Given the description of an element on the screen output the (x, y) to click on. 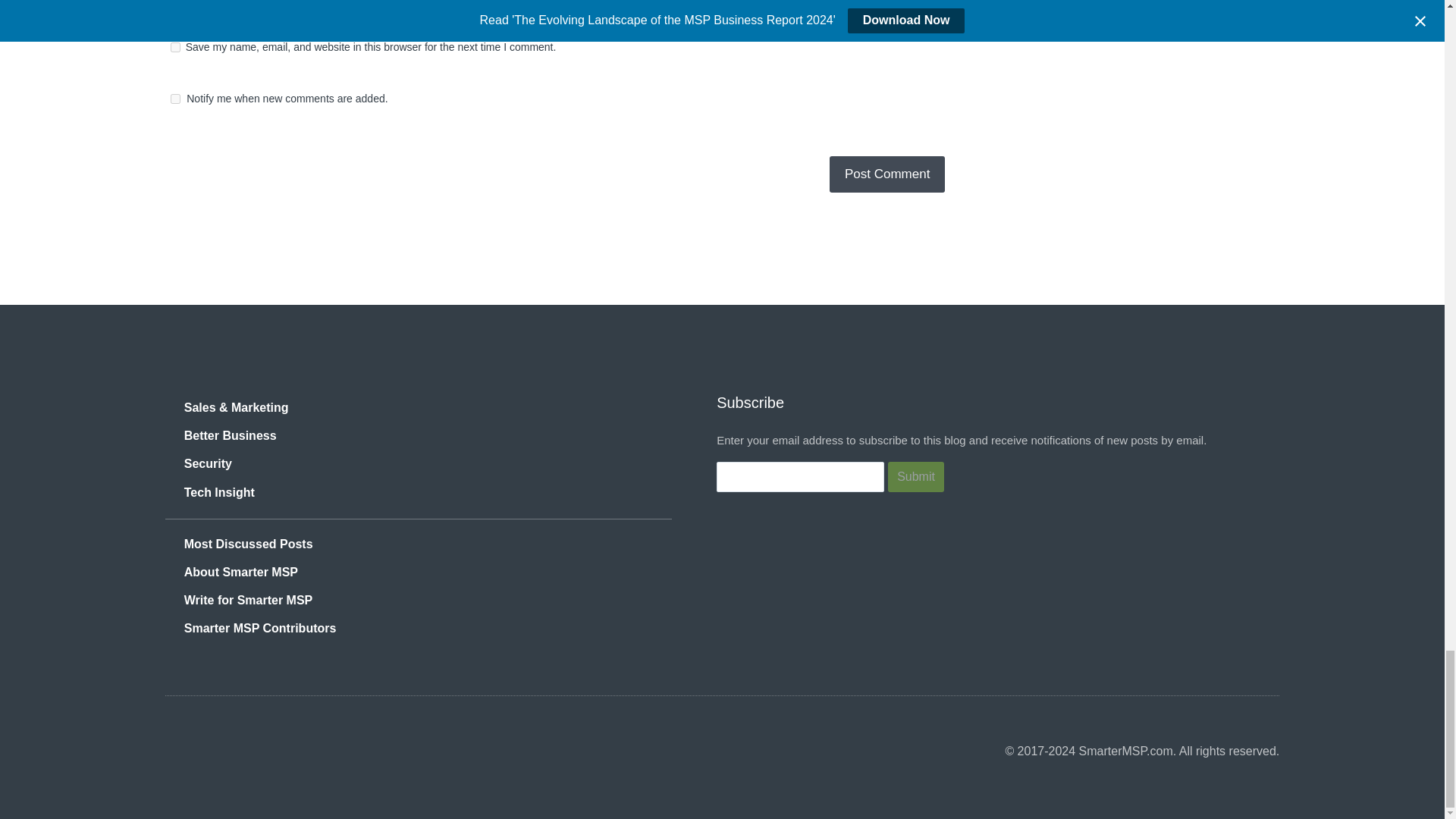
1 (175, 99)
yes (175, 47)
Post Comment (886, 174)
